Given the description of an element on the screen output the (x, y) to click on. 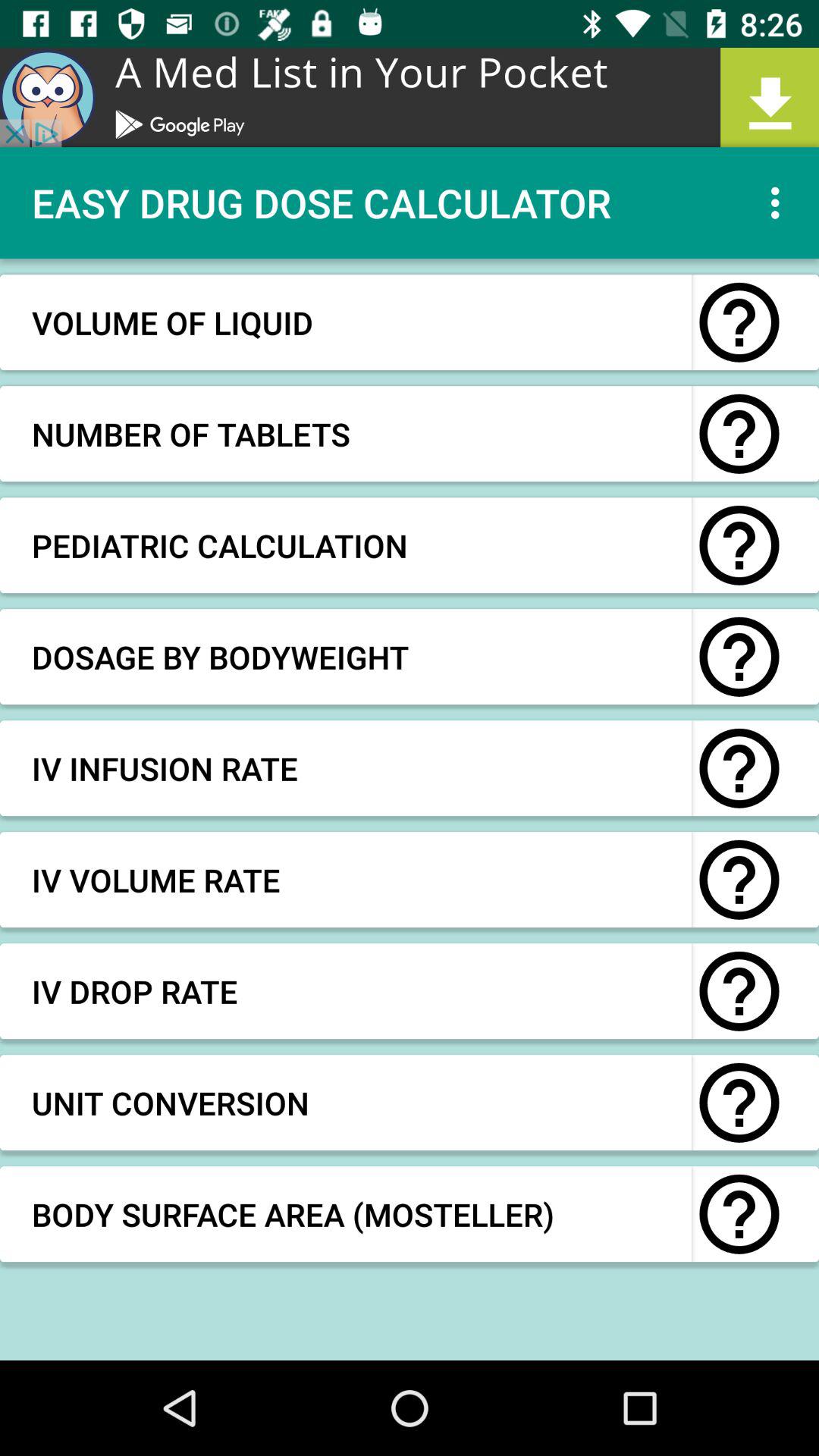
help button (739, 1102)
